Given the description of an element on the screen output the (x, y) to click on. 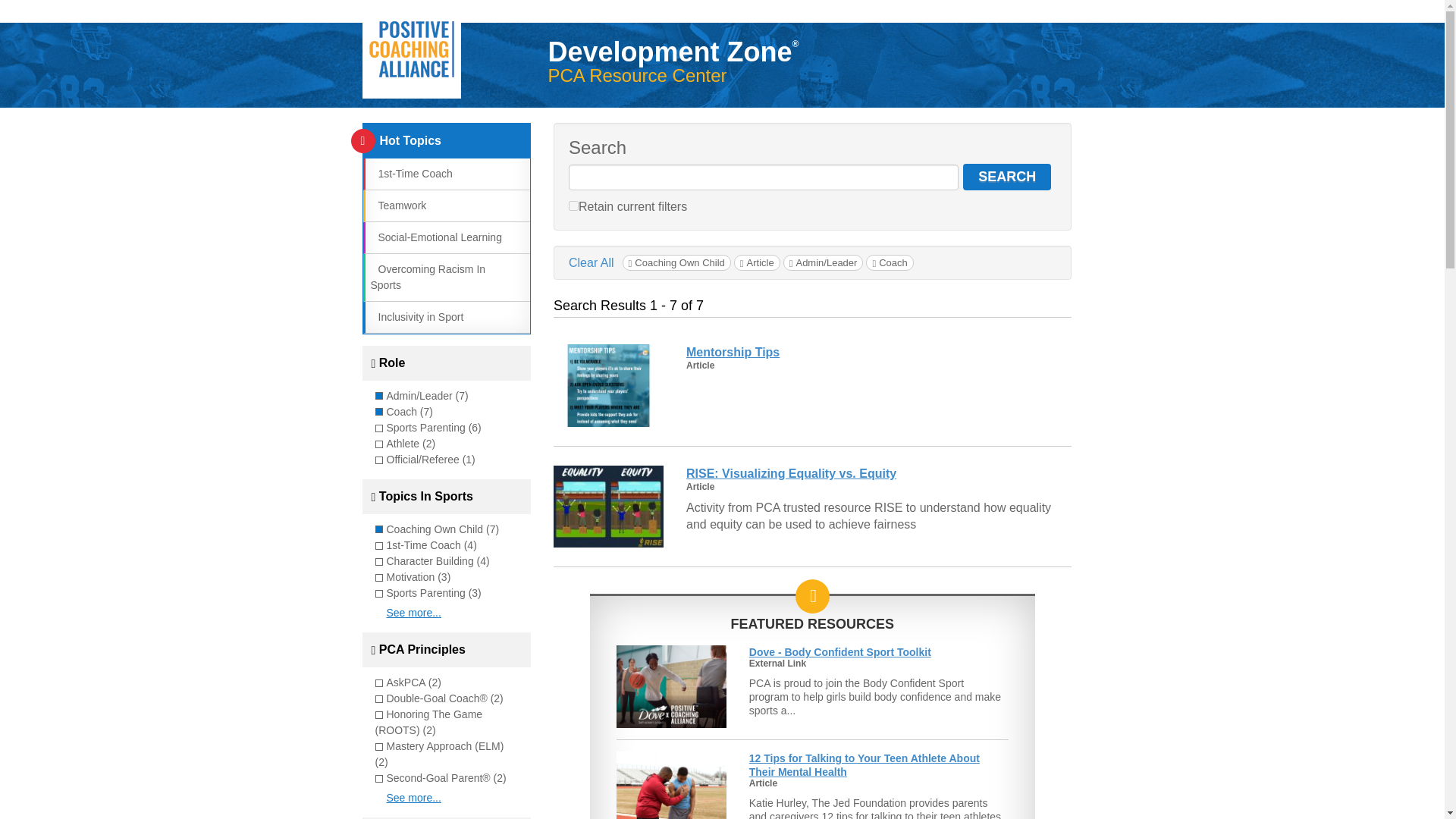
Clear All (591, 262)
See more... (414, 797)
Teamwork (397, 205)
Coaching Own Child (676, 262)
See more... (414, 612)
SEARCH (1006, 176)
1 (573, 205)
Social-Emotional Learning (434, 236)
Inclusivity in Sport (416, 316)
1st-Time Coach (410, 173)
Overcoming Racism In Sports (426, 276)
